Given the description of an element on the screen output the (x, y) to click on. 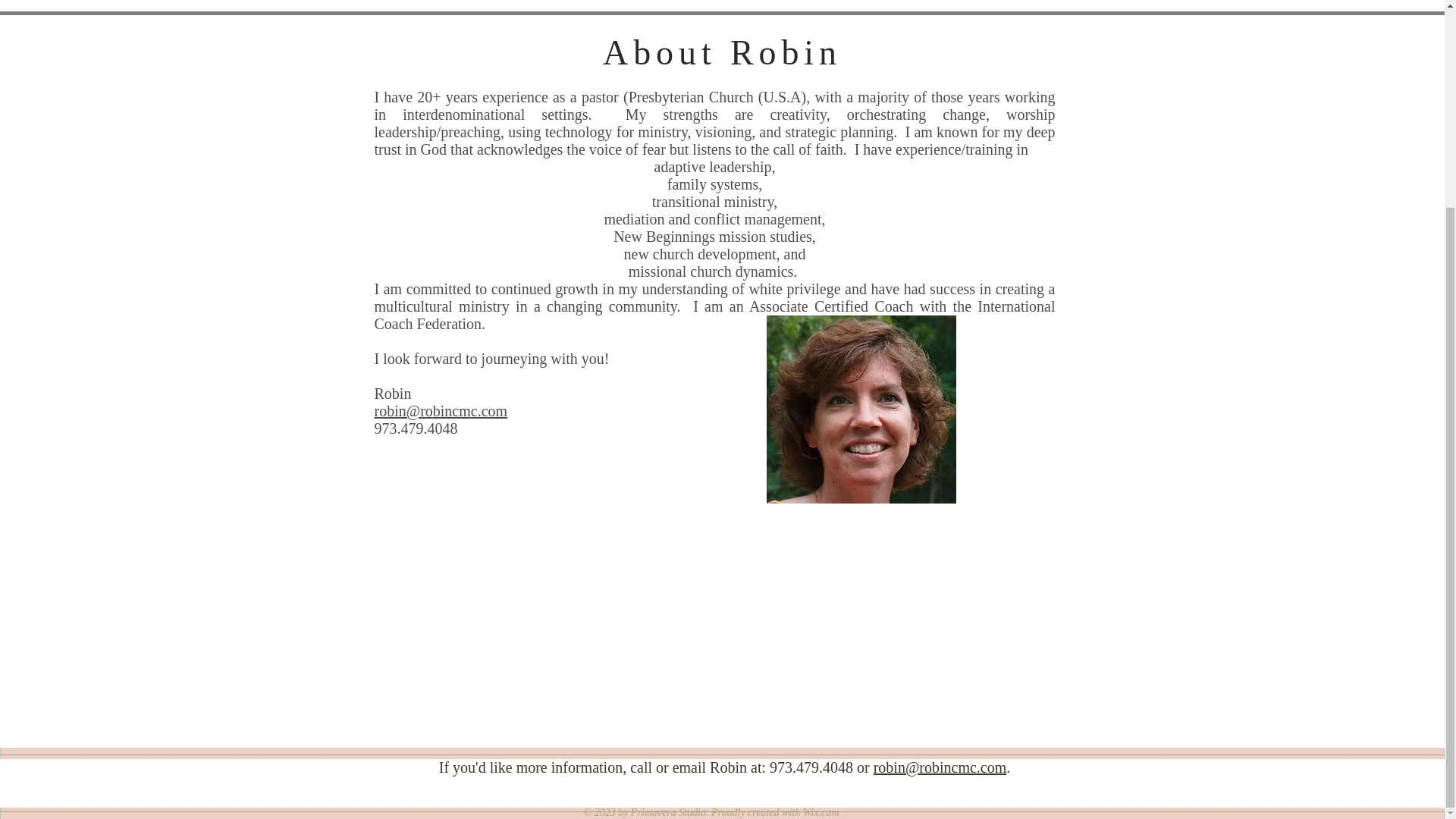
Wix.com (821, 812)
